Given the description of an element on the screen output the (x, y) to click on. 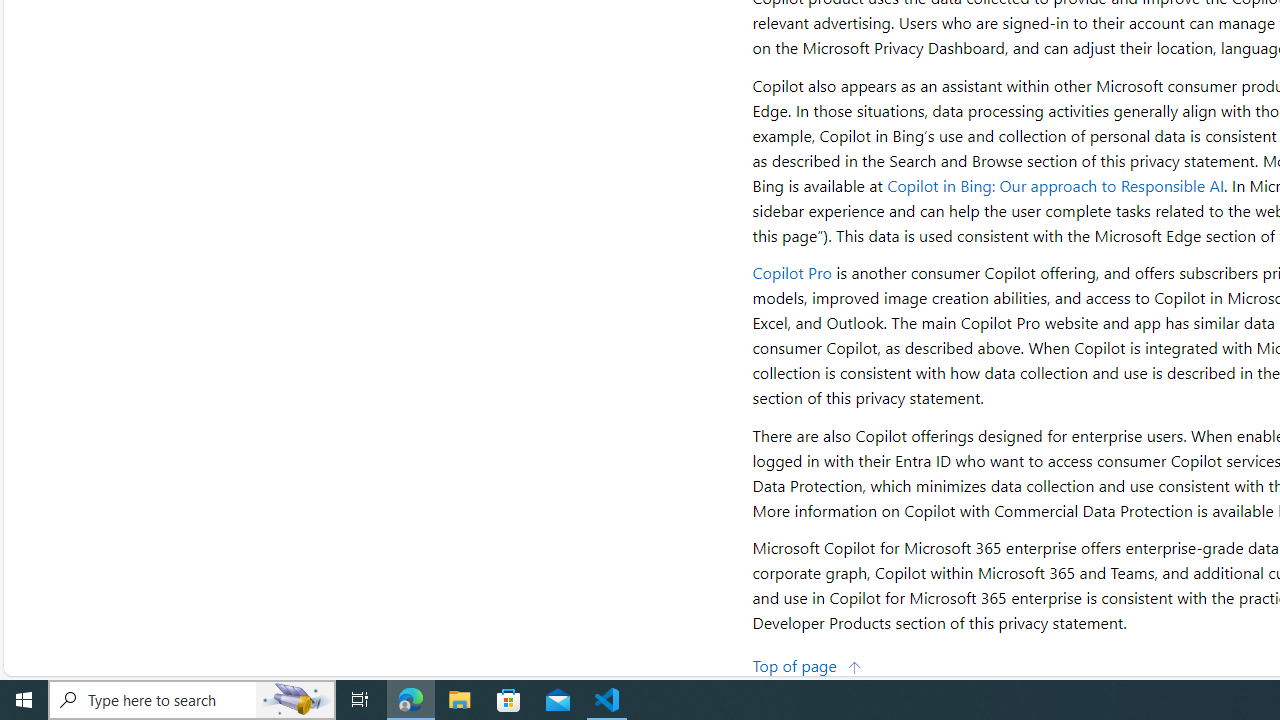
Copilot Pro (792, 272)
Top of page (807, 664)
Copilot in Bing: Our approach to Responsible AI (1055, 184)
